Given the description of an element on the screen output the (x, y) to click on. 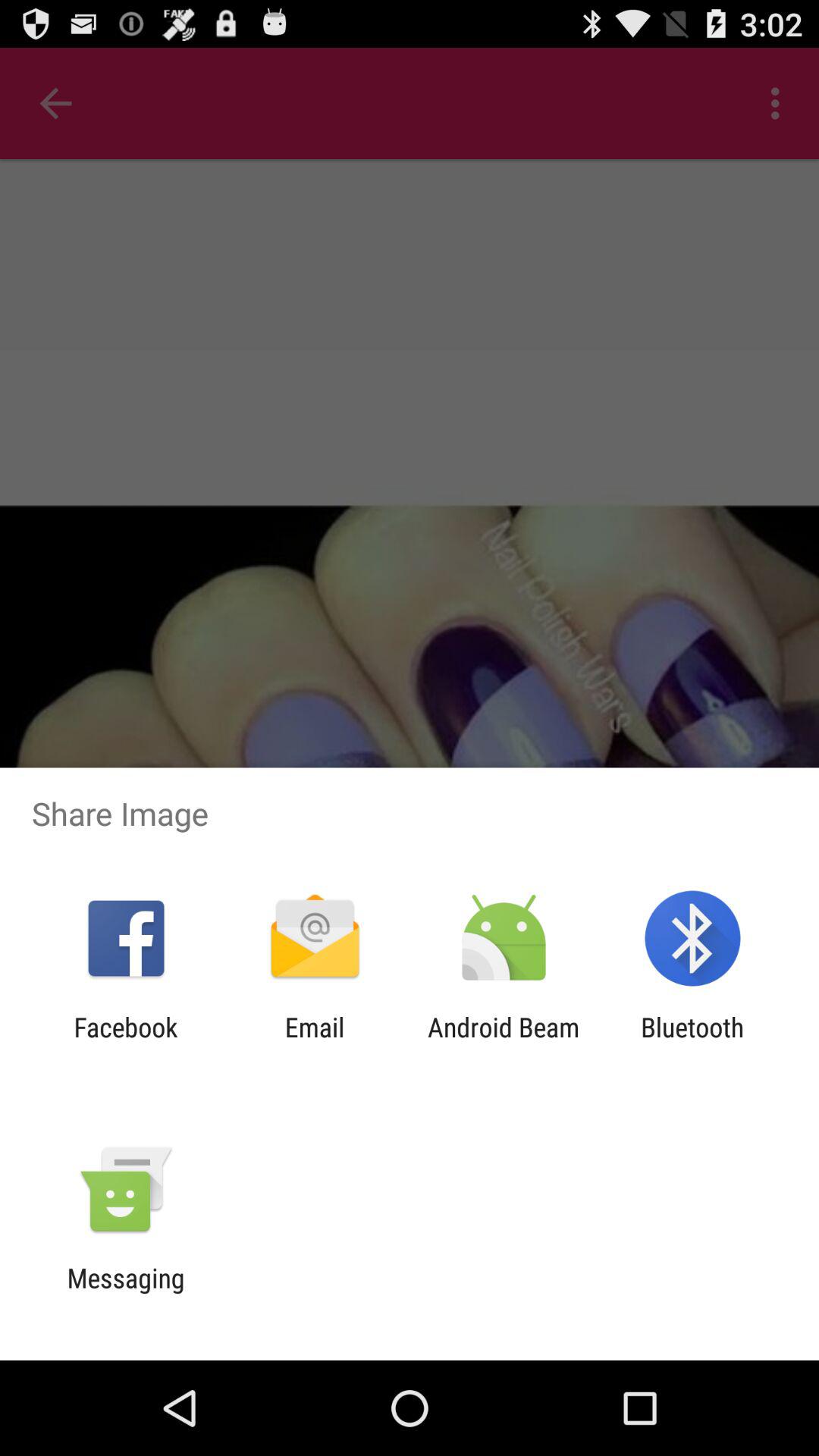
turn off messaging app (125, 1293)
